Given the description of an element on the screen output the (x, y) to click on. 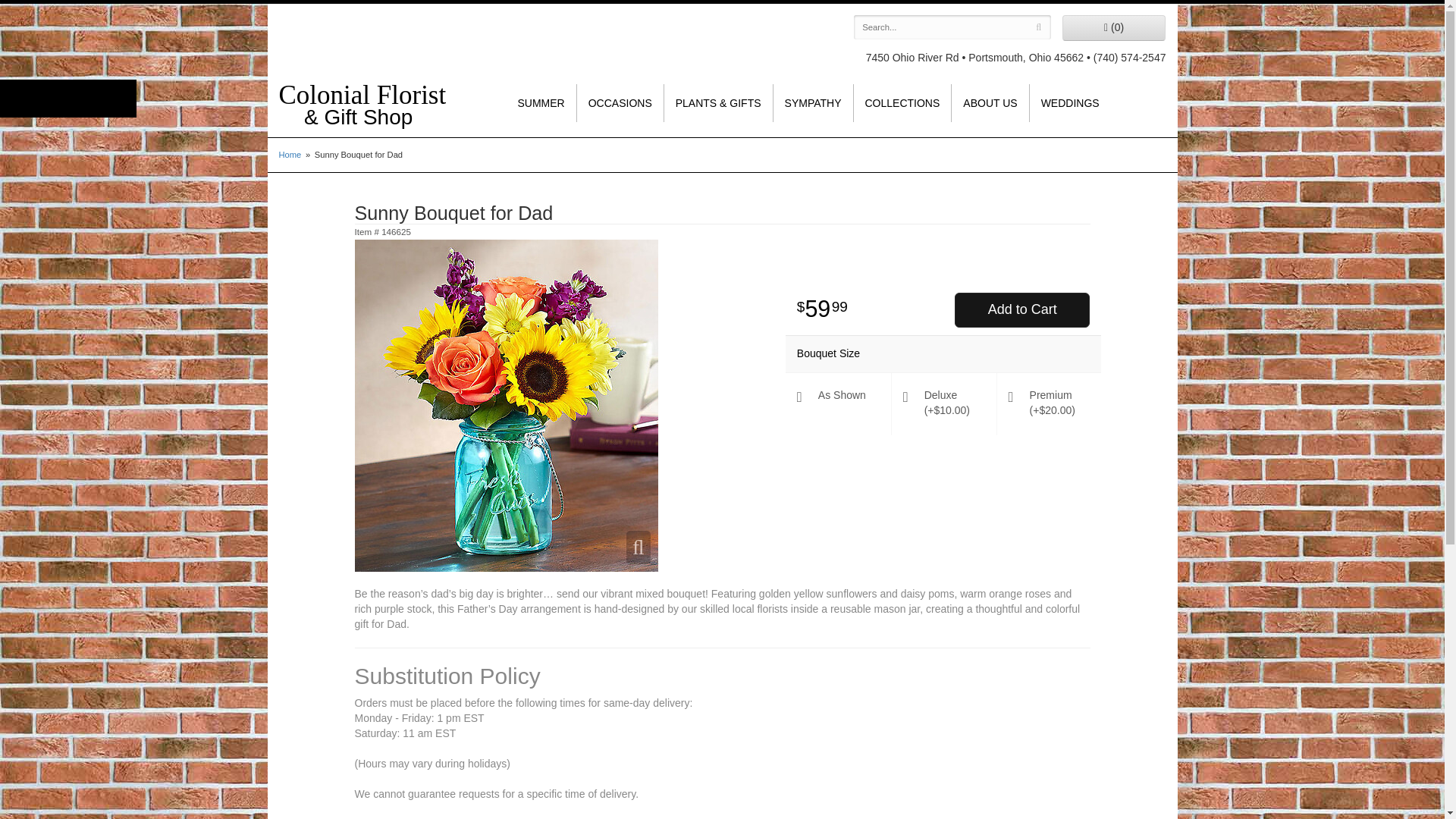
OCCASIONS (619, 103)
ABOUT US (989, 103)
SYMPATHY (813, 103)
SUMMER (541, 103)
COLLECTIONS (902, 103)
